Given the description of an element on the screen output the (x, y) to click on. 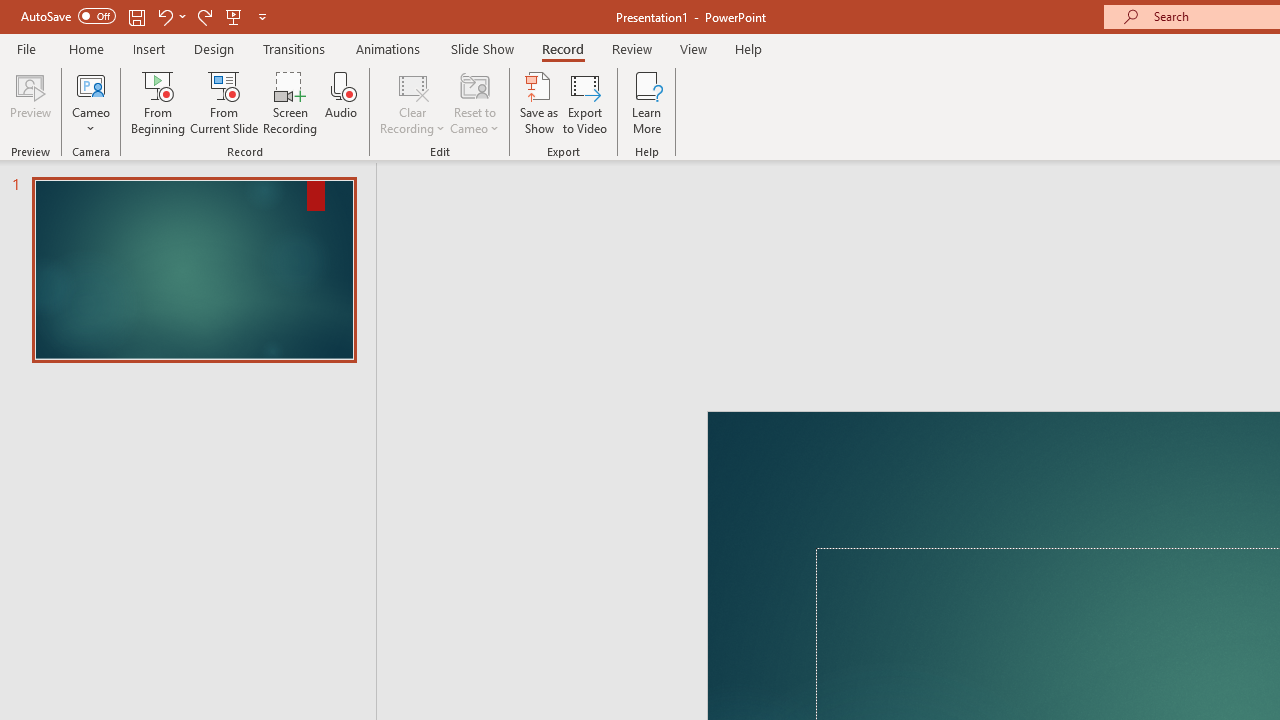
From Beginning... (158, 102)
From Current Slide... (224, 102)
